Given the description of an element on the screen output the (x, y) to click on. 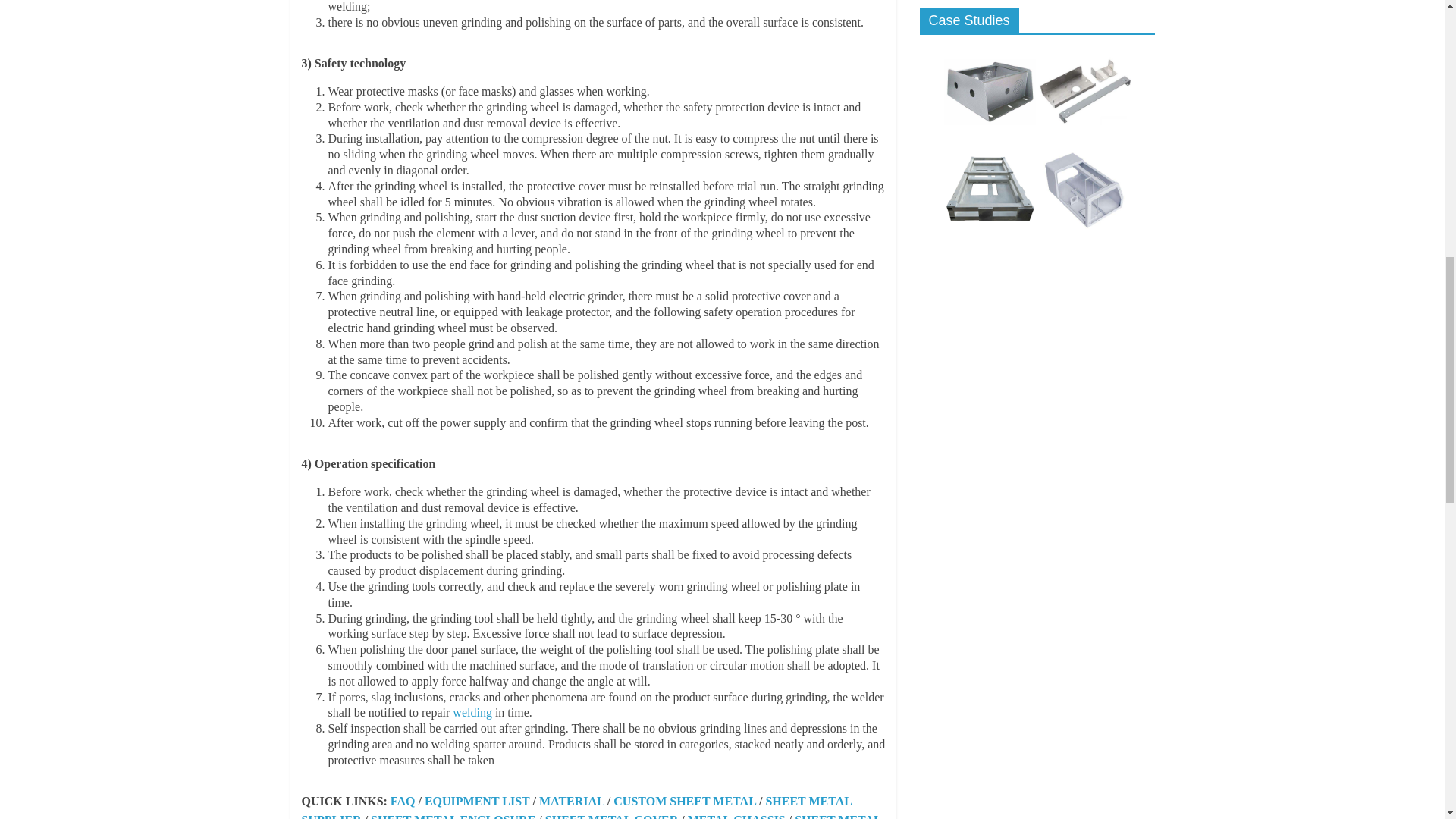
welding (472, 712)
METAL CHASSIS (736, 816)
welding (472, 712)
CUSTOM SHEET METAL (683, 800)
FAQ (402, 800)
SHEET METAL SUPPLIER (576, 806)
MATERIAL (571, 800)
SHEET METAL ENCLOSURE (453, 816)
SHEET METAL COVER (611, 816)
EQUIPMENT LIST (477, 800)
